Given the description of an element on the screen output the (x, y) to click on. 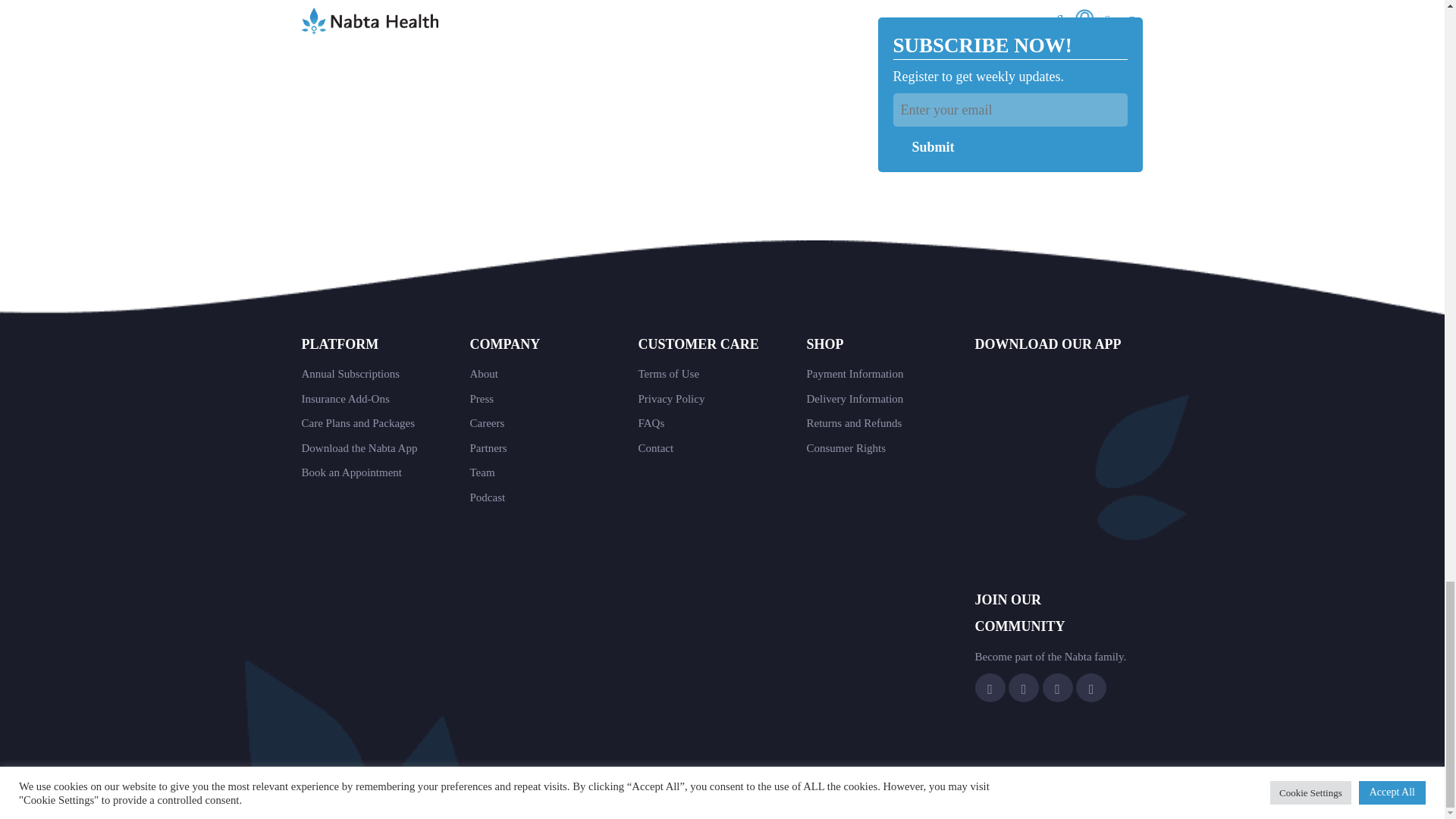
Submit (928, 146)
